Given the description of an element on the screen output the (x, y) to click on. 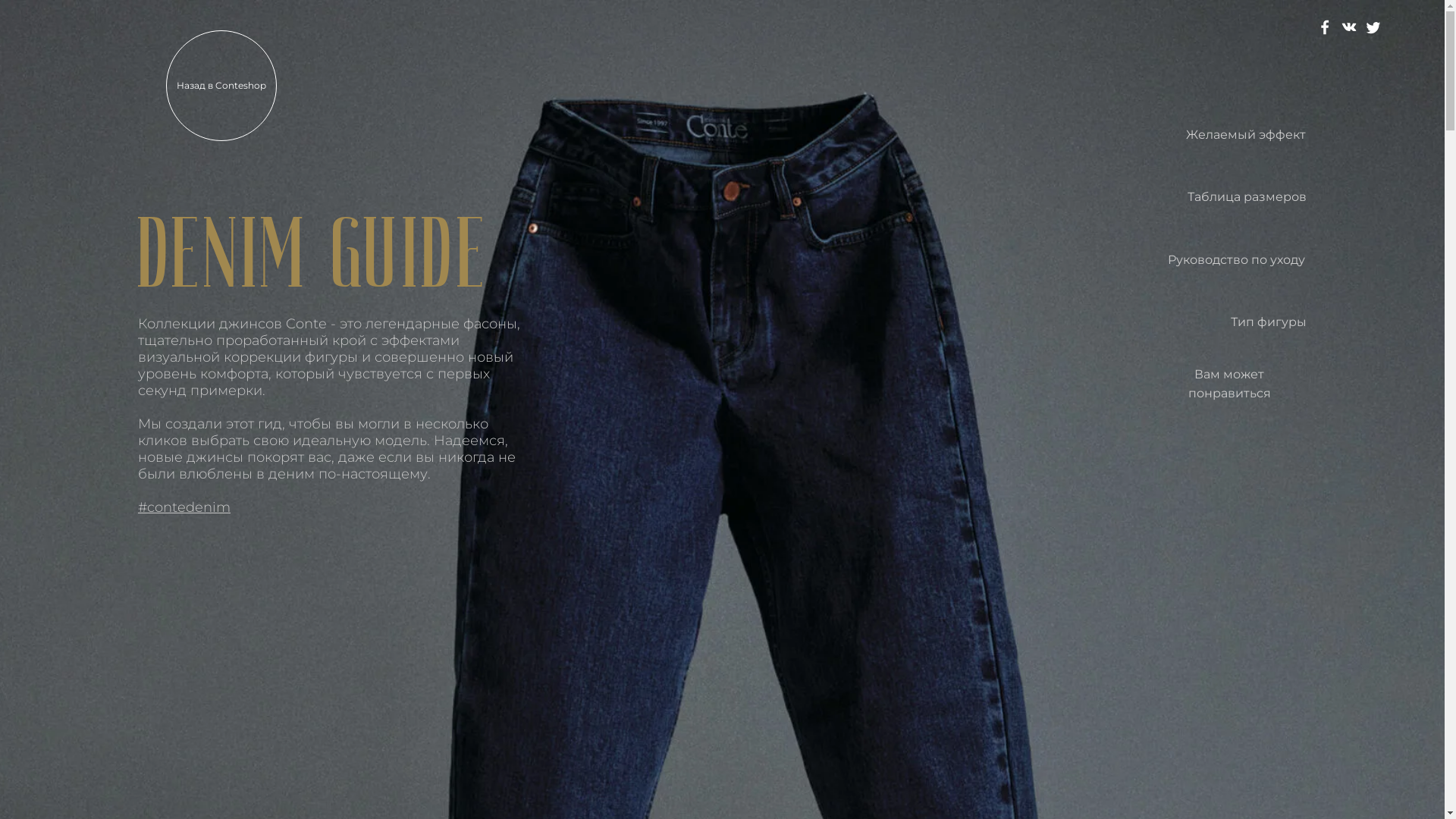
#contedenim Element type: text (184, 506)
Twitter Element type: hover (1372, 26)
Facebook Element type: hover (1324, 26)
